Given the description of an element on the screen output the (x, y) to click on. 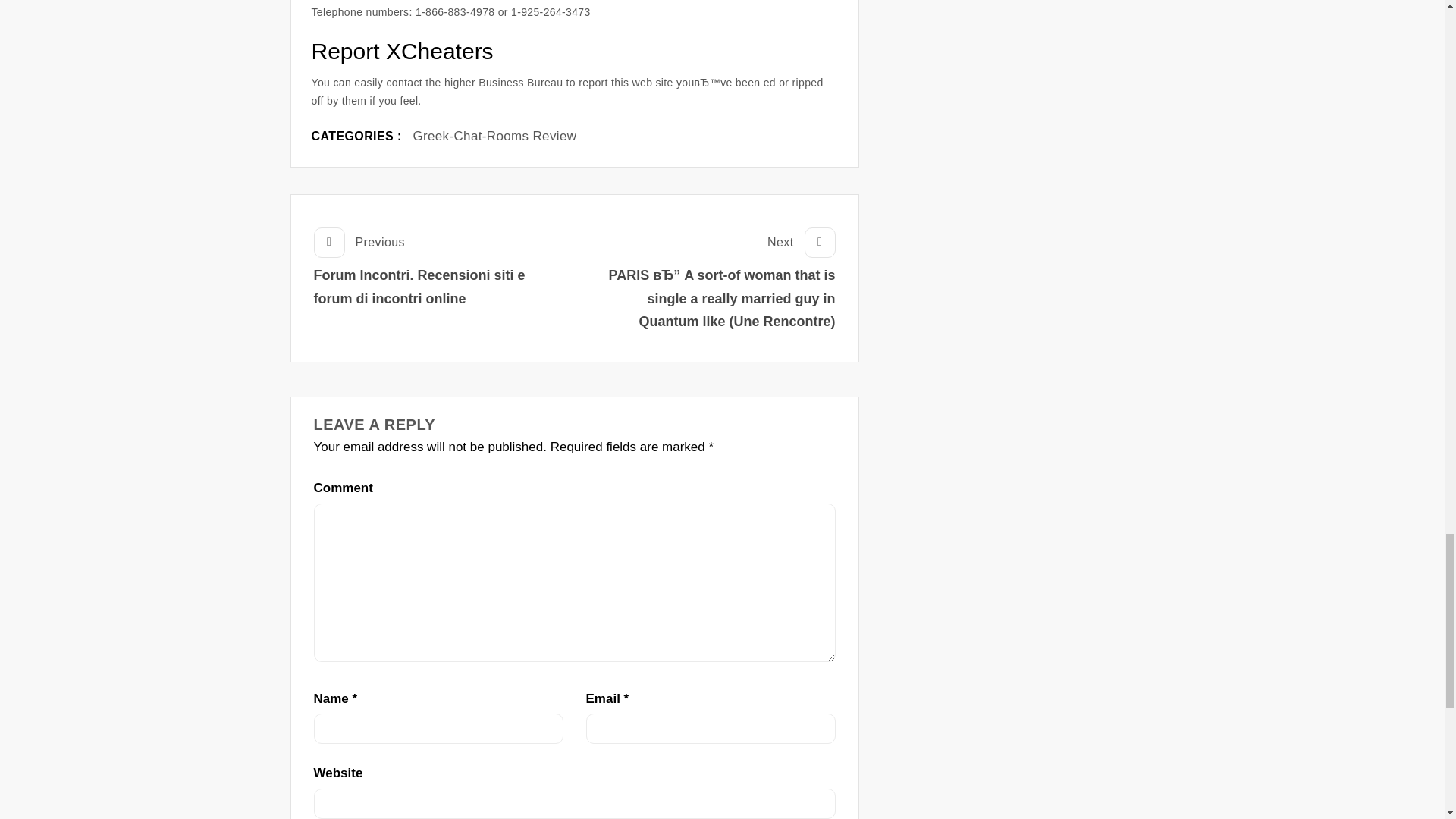
Greek-Chat-Rooms Review (494, 135)
